Given the description of an element on the screen output the (x, y) to click on. 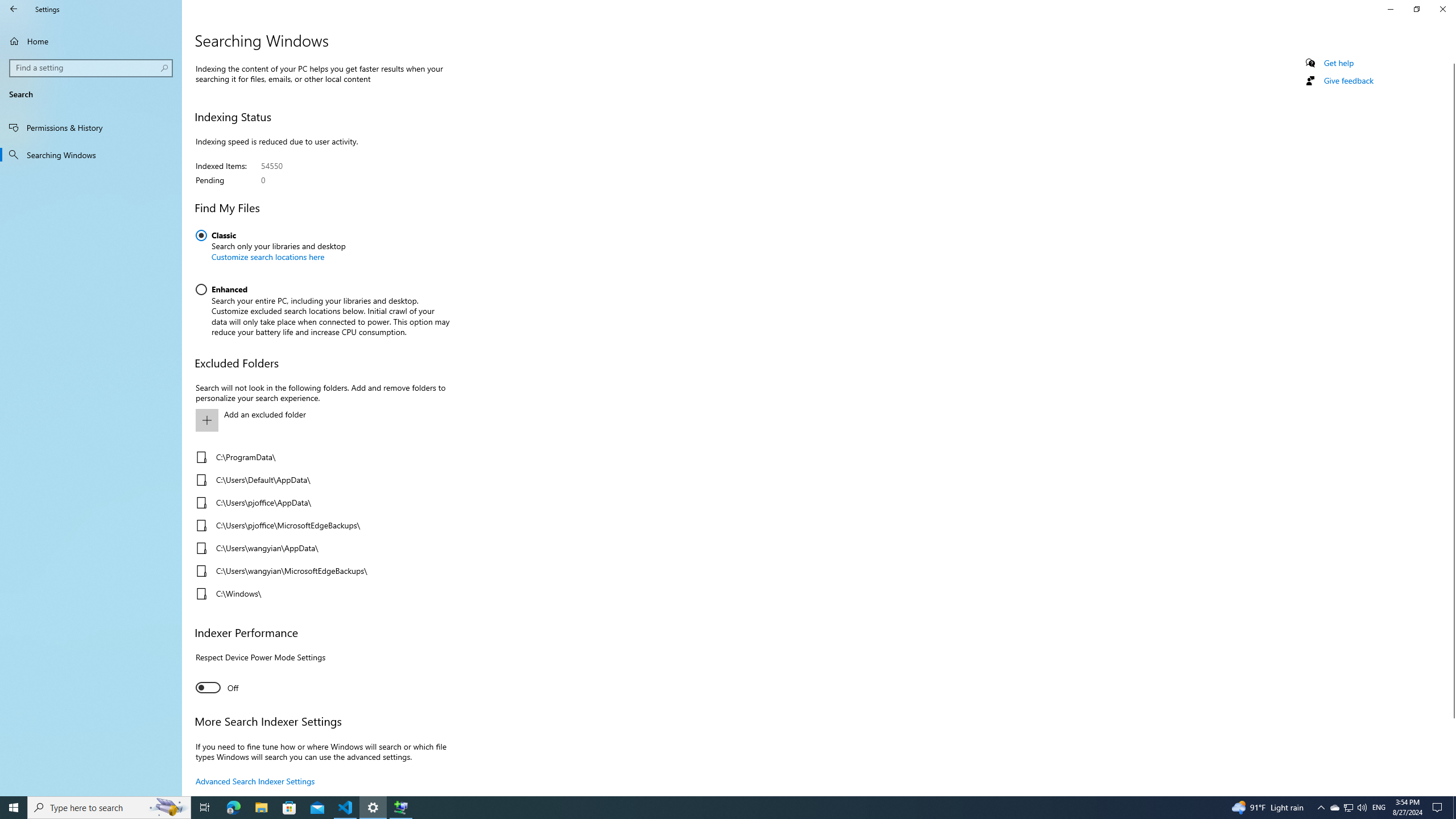
Customize search locations here (267, 256)
Vertical Large Increase (1451, 752)
Searching Windows (91, 154)
C:\Users\wangyian\AppData\ (319, 548)
Give feedback (1348, 80)
Q2790: 100% (1361, 807)
Extensible Wizards Host Process - 1 running window (400, 807)
Indexer Performance. Respect Device Power Mode Settings (216, 687)
Search box, Find a setting (91, 67)
C:\ProgramData\ (319, 456)
C:\Users\pjoffice\AppData\ (319, 502)
Task View (204, 807)
File Explorer (261, 807)
